Given the description of an element on the screen output the (x, y) to click on. 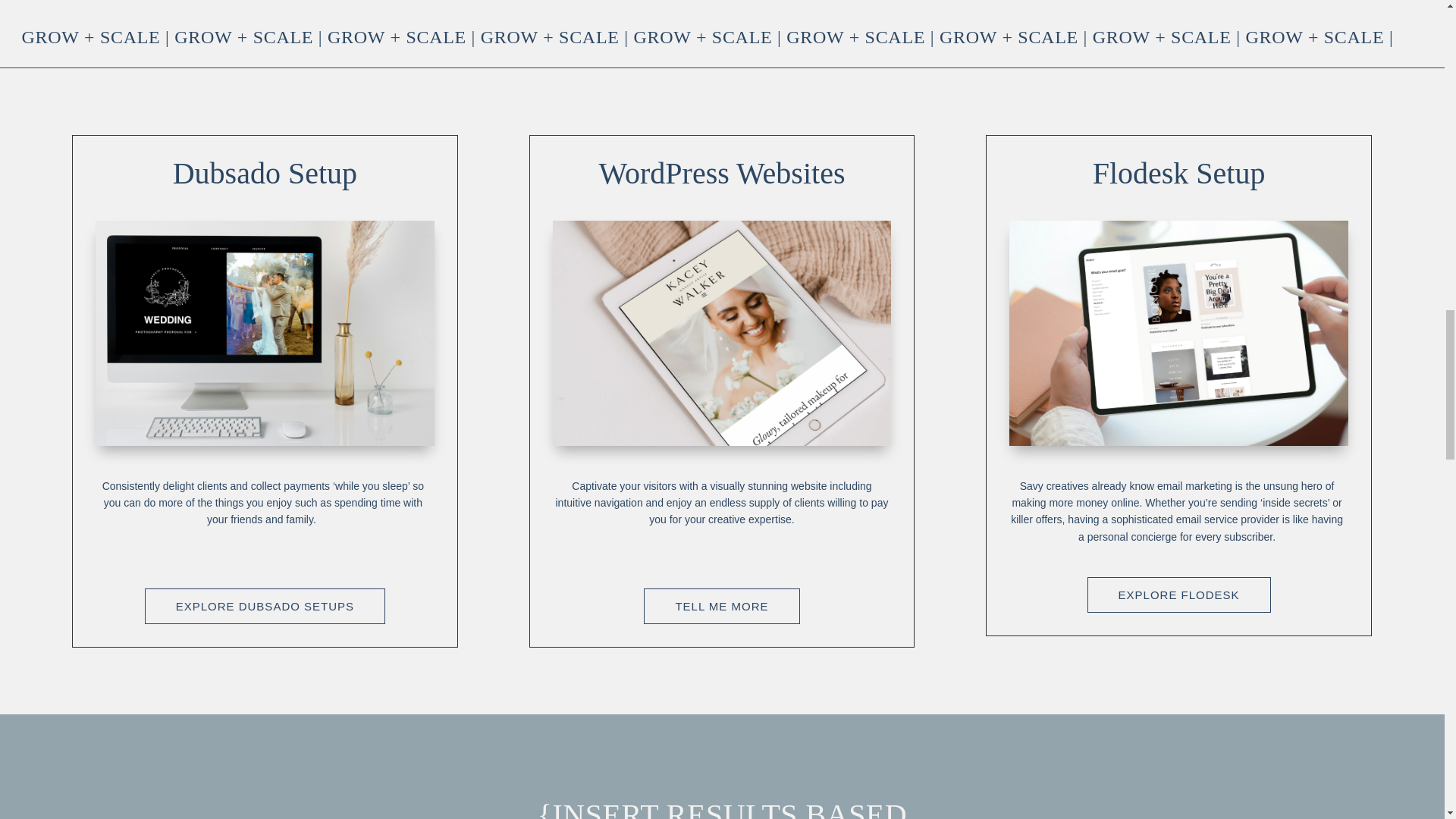
TELL ME MORE (721, 606)
Nadine Hassan Creative Flodesk Setup Service (1178, 333)
EXPLORE DUBSADO SETUPS (264, 606)
EXPLORE FLODESK (1179, 595)
Nadine Hassan Dubsado Setup Service (264, 333)
